Given the description of an element on the screen output the (x, y) to click on. 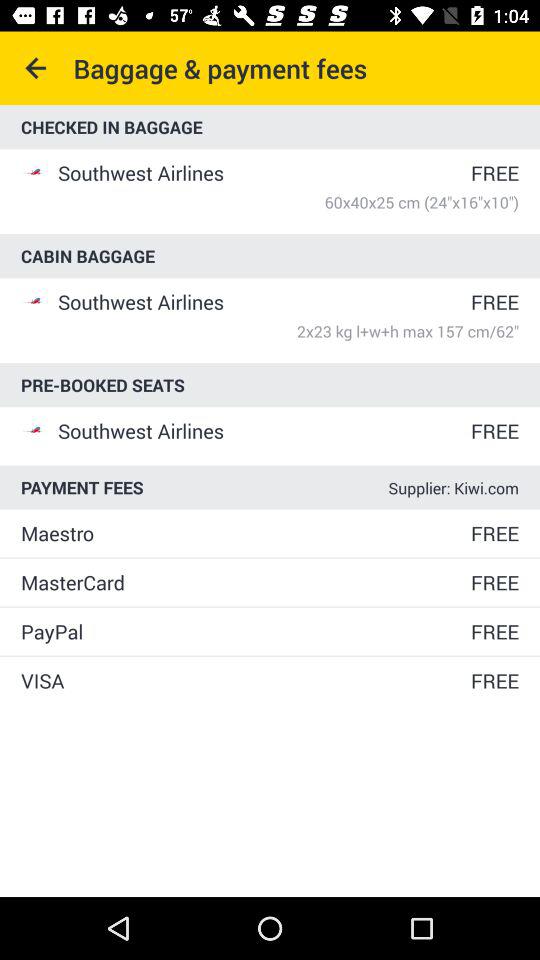
open icon below paypal item (244, 680)
